Given the description of an element on the screen output the (x, y) to click on. 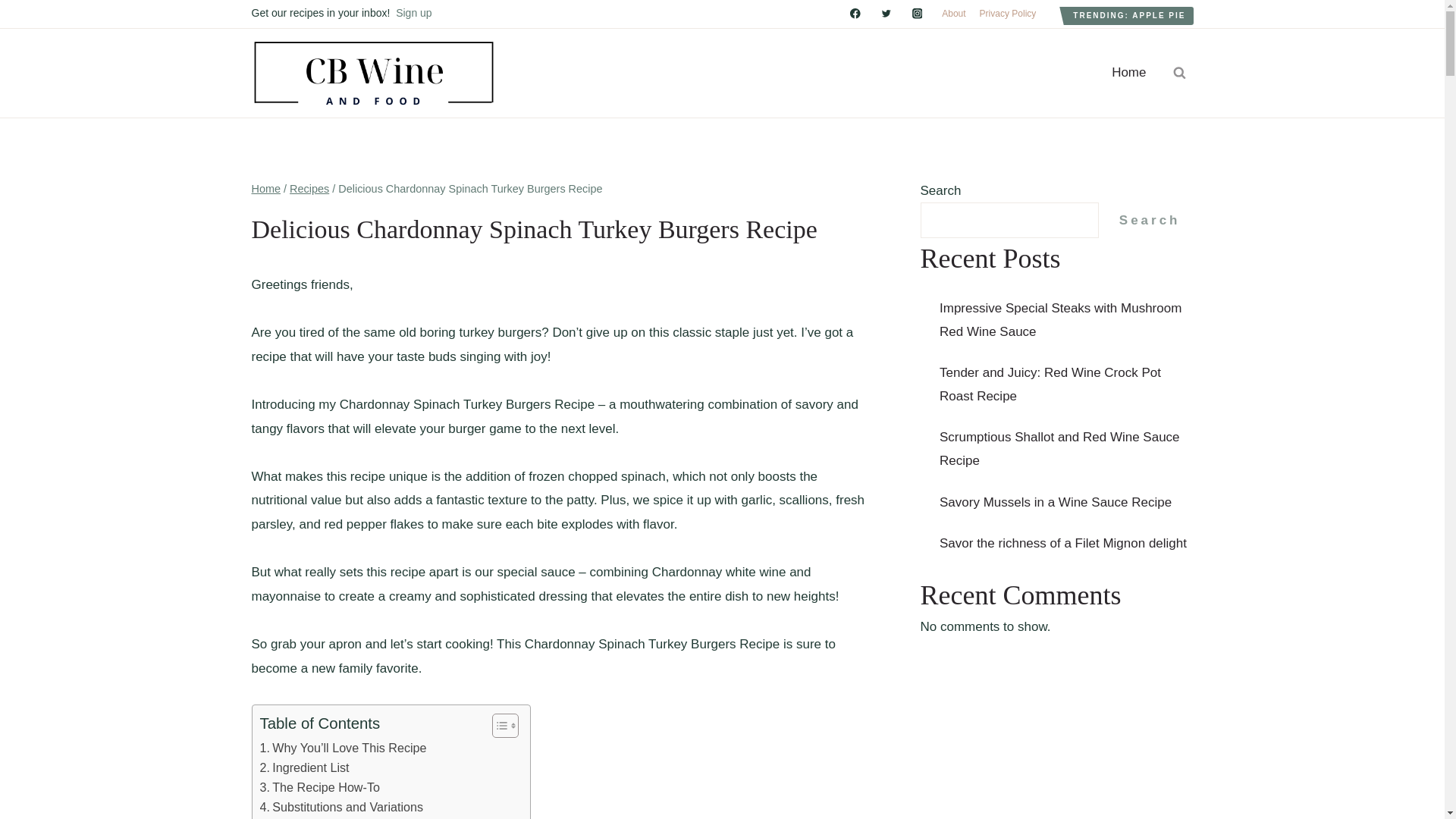
Substitutions and Variations (341, 807)
Home (266, 188)
About (953, 13)
Substitutions and Variations (341, 807)
Home (1128, 72)
Ingredient List (304, 768)
Recipes (309, 188)
Serving and Pairing (318, 817)
The Recipe How-To (318, 787)
Ingredient List (304, 768)
